Given the description of an element on the screen output the (x, y) to click on. 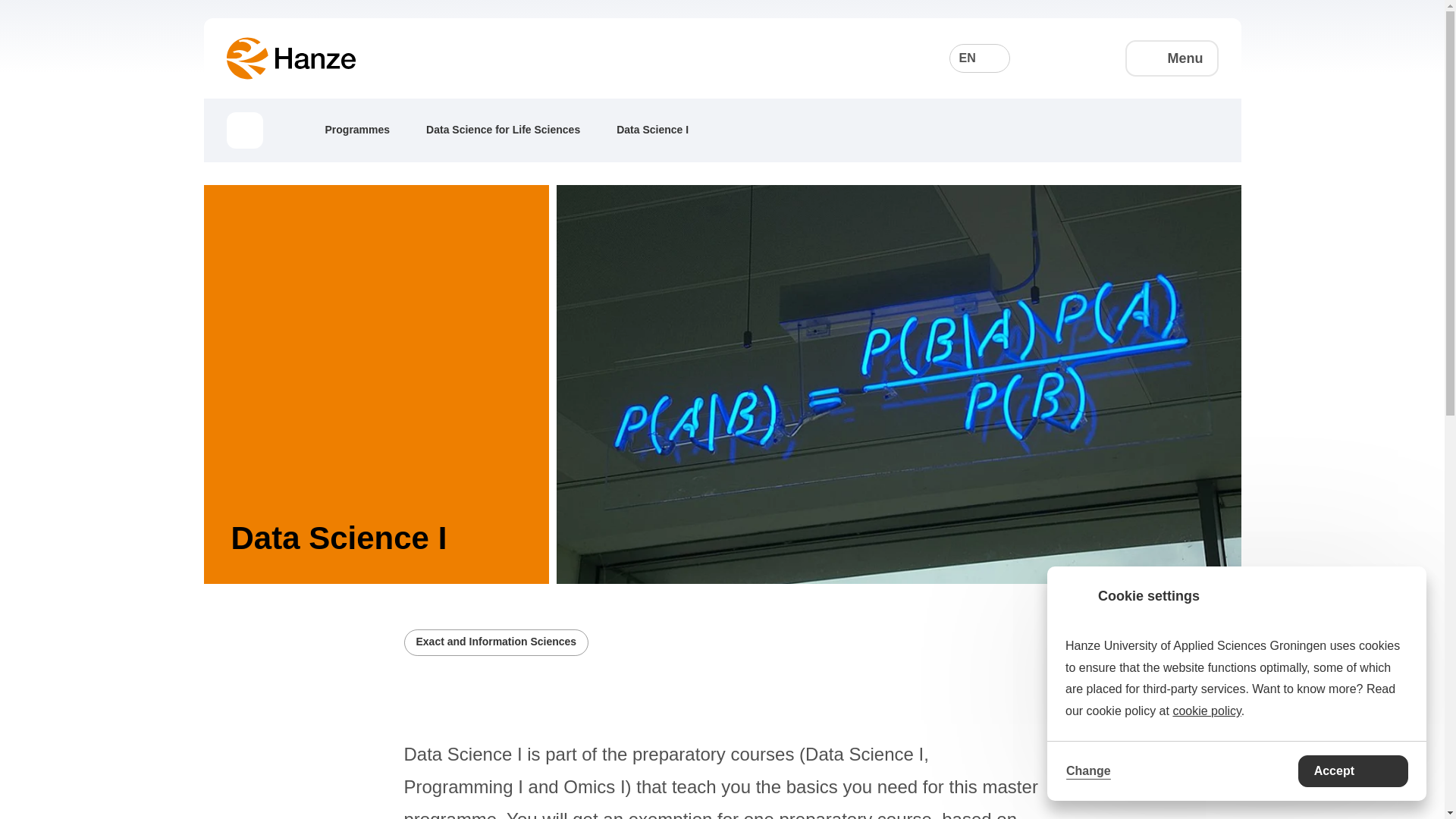
Menu (1171, 58)
Programmes (368, 129)
EN (979, 58)
Data Science for Life Sciences (514, 129)
My Hanze (1089, 57)
